Given the description of an element on the screen output the (x, y) to click on. 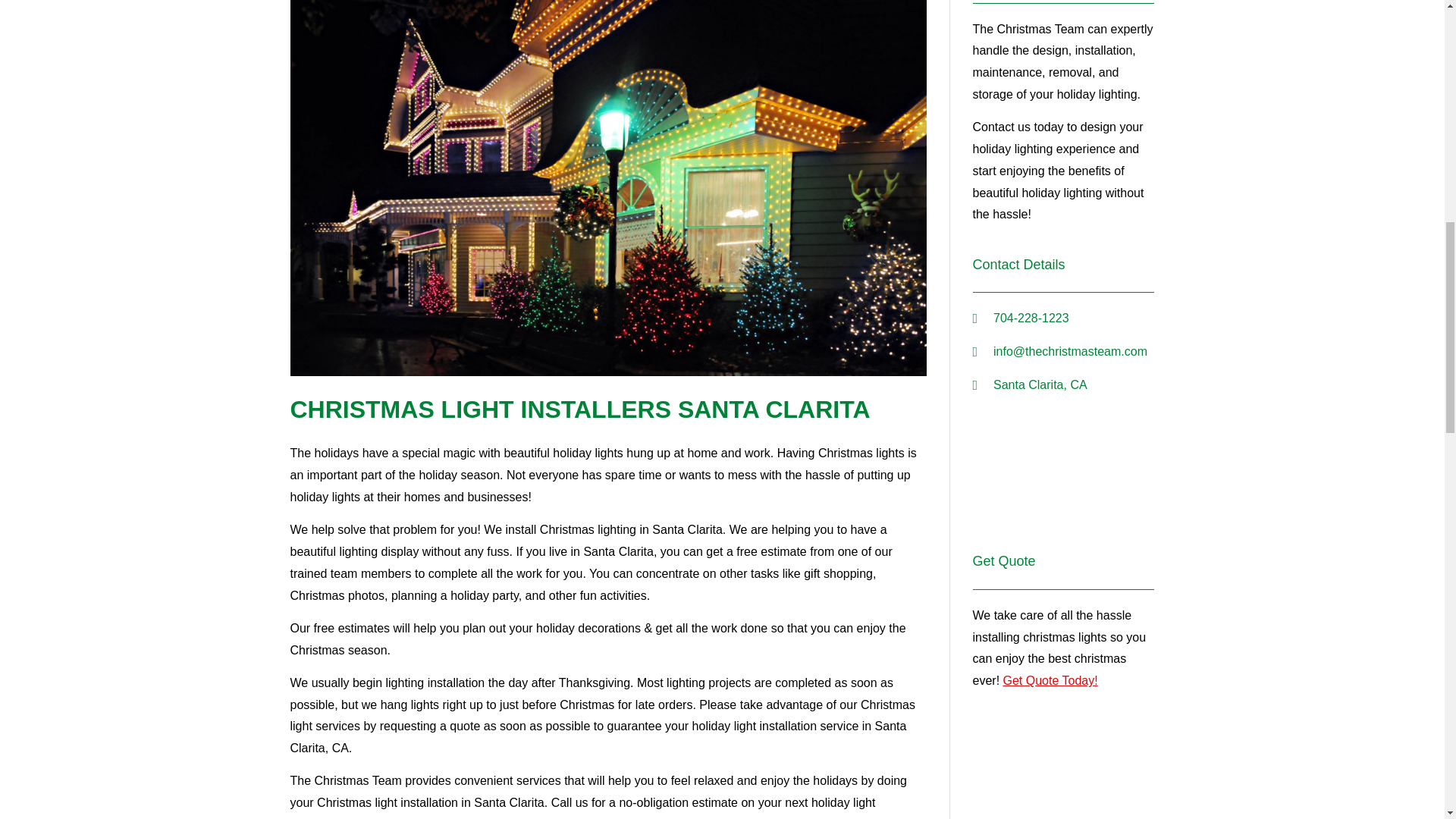
Santa Clarita, CA (1063, 476)
Get Quote Today! (1050, 680)
704-228-1223 (1063, 318)
